Given the description of an element on the screen output the (x, y) to click on. 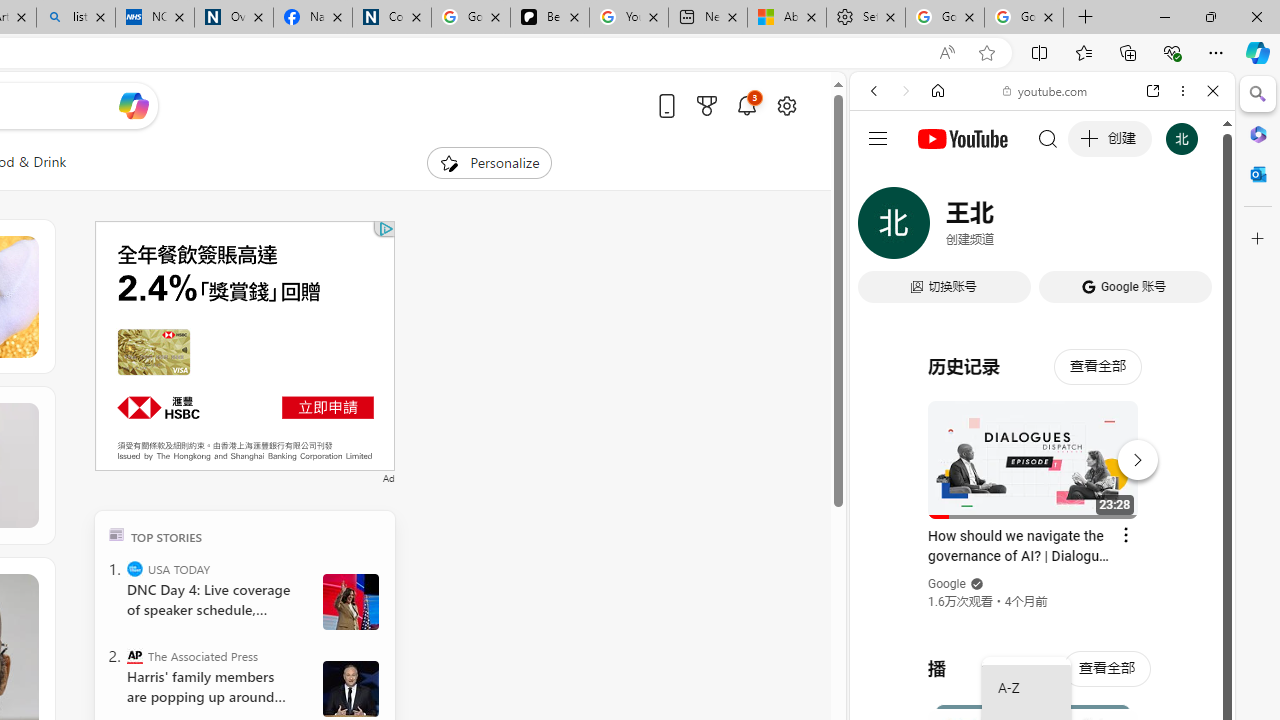
Google (1042, 494)
list of asthma inhalers uk - Search (76, 17)
Show More Music (1164, 546)
A-Z (1026, 688)
Search videos from youtube.com (1005, 657)
Music (1042, 543)
Trailer #2 [HD] (1042, 592)
Personalize (488, 162)
